Given the description of an element on the screen output the (x, y) to click on. 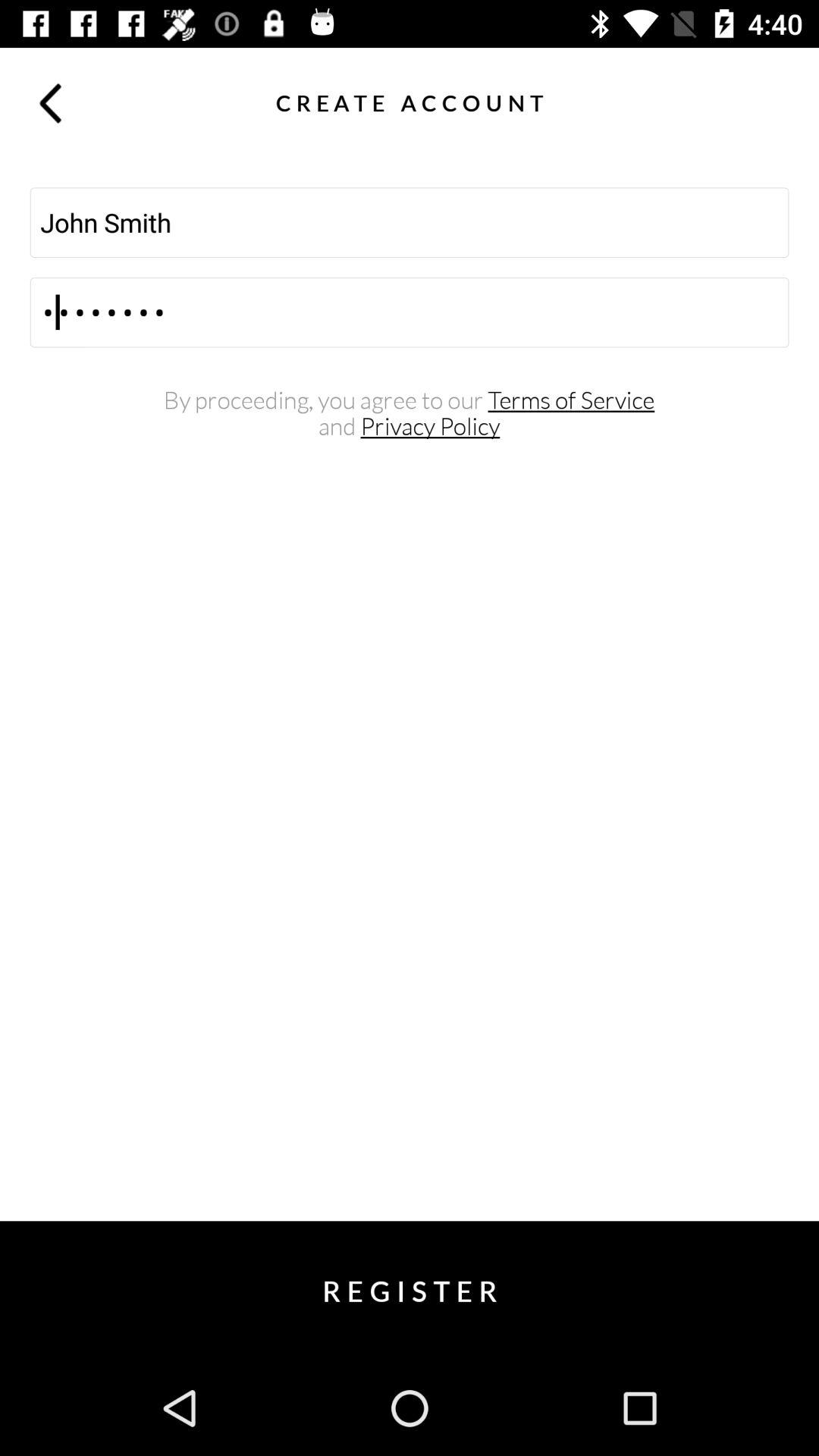
launch item above john smith (769, 102)
